Given the description of an element on the screen output the (x, y) to click on. 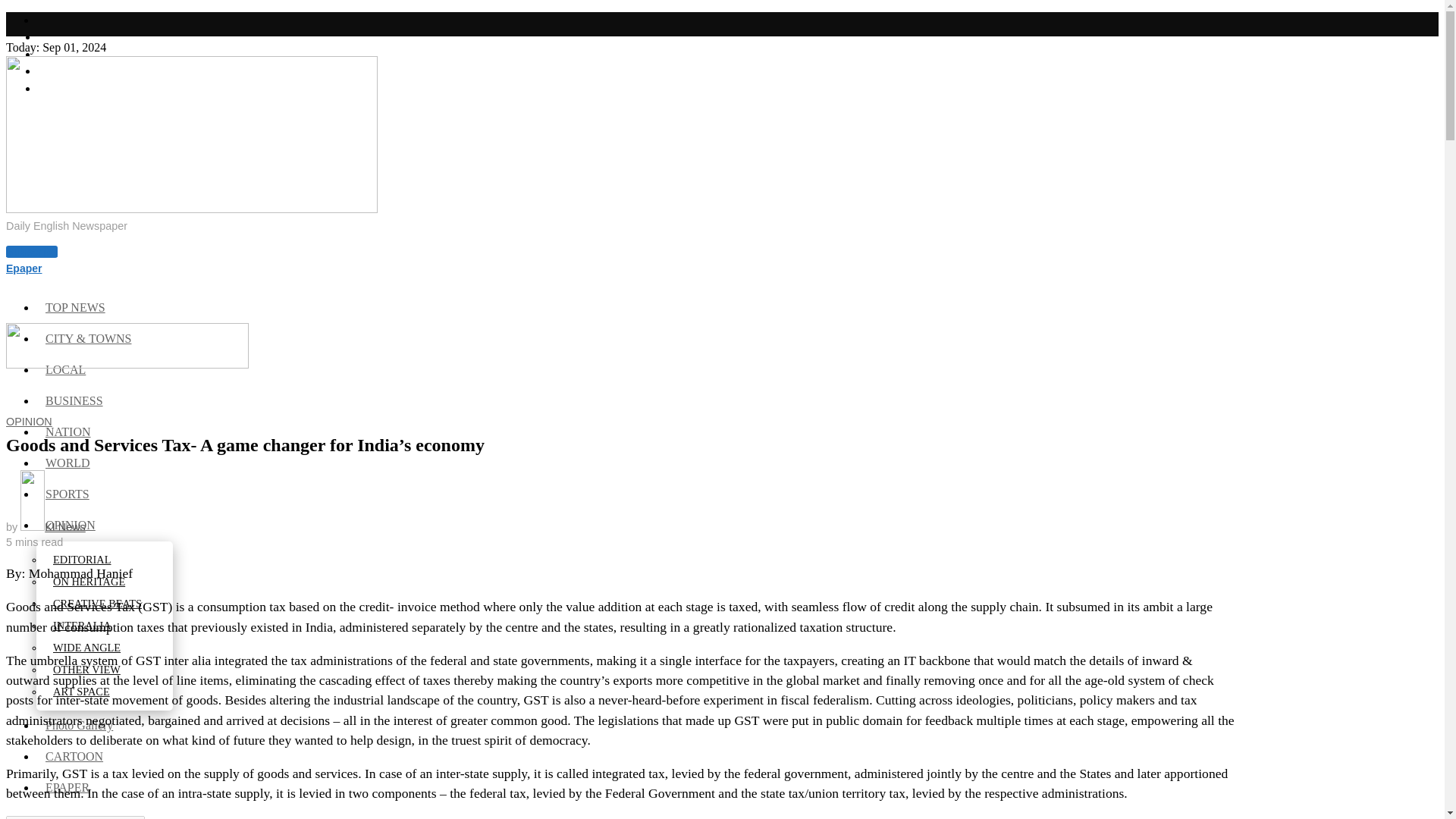
SPORTS (68, 493)
LOCAL (66, 369)
ART SPACE (81, 691)
CREATIVE BEATS (97, 603)
INTERALIA (82, 625)
WORLD (68, 462)
KI News (52, 526)
CARTOON (75, 756)
Subscribe (31, 251)
EPAPER (68, 787)
